Given the description of an element on the screen output the (x, y) to click on. 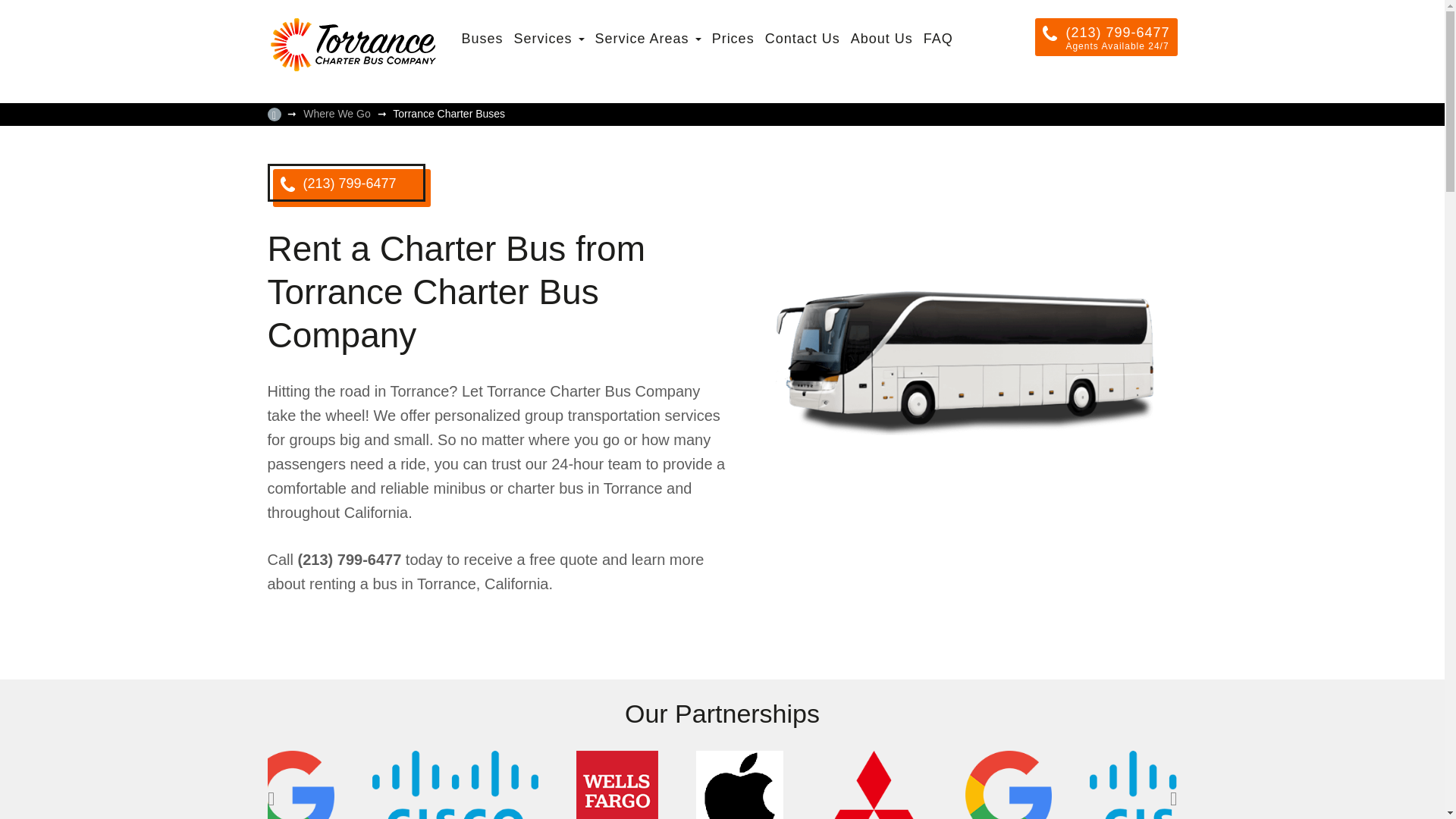
Services (549, 38)
Service Areas (648, 38)
Buses (481, 38)
